Given the description of an element on the screen output the (x, y) to click on. 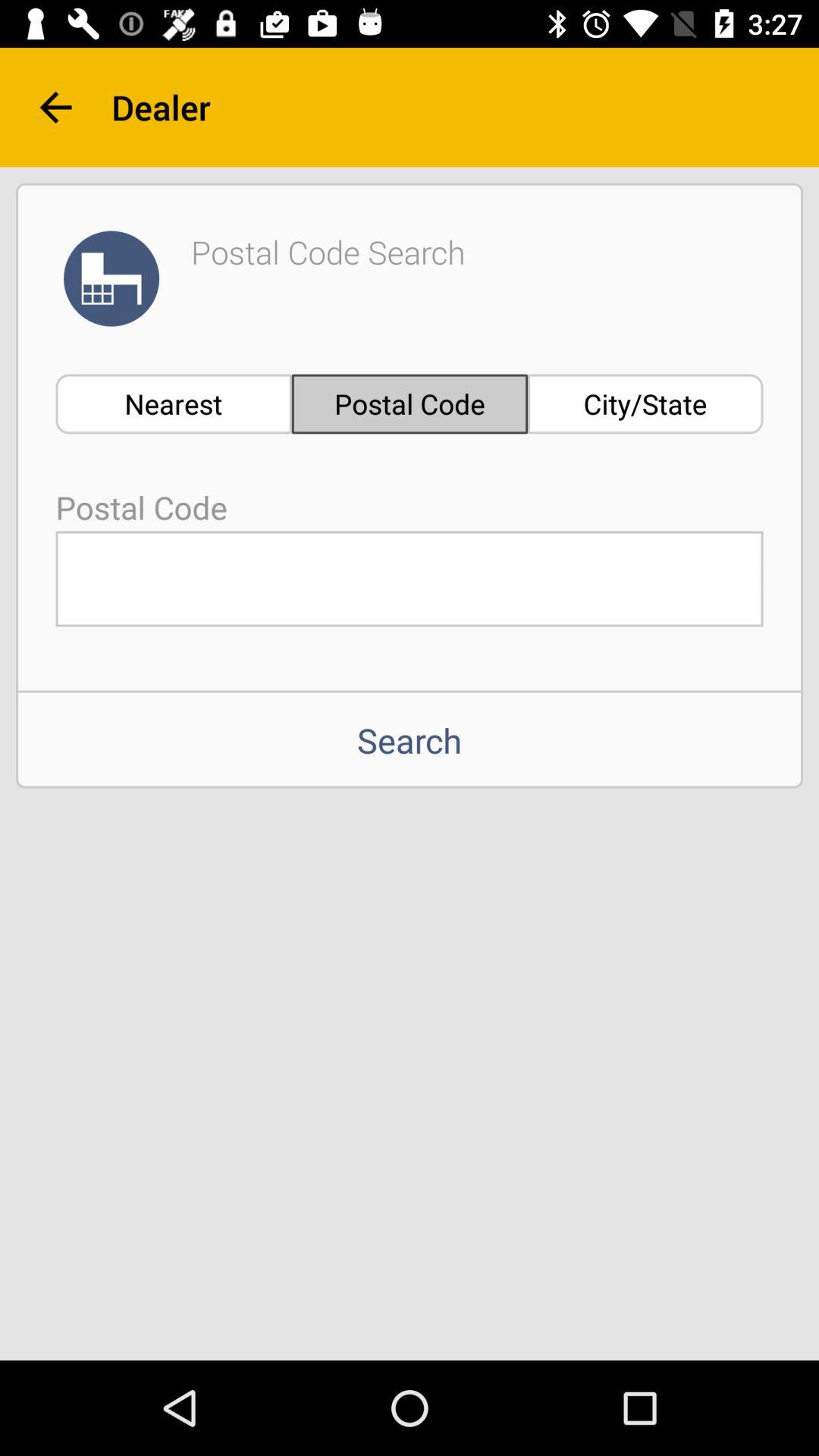
select the item to the right of the postal code icon (645, 403)
